Given the description of an element on the screen output the (x, y) to click on. 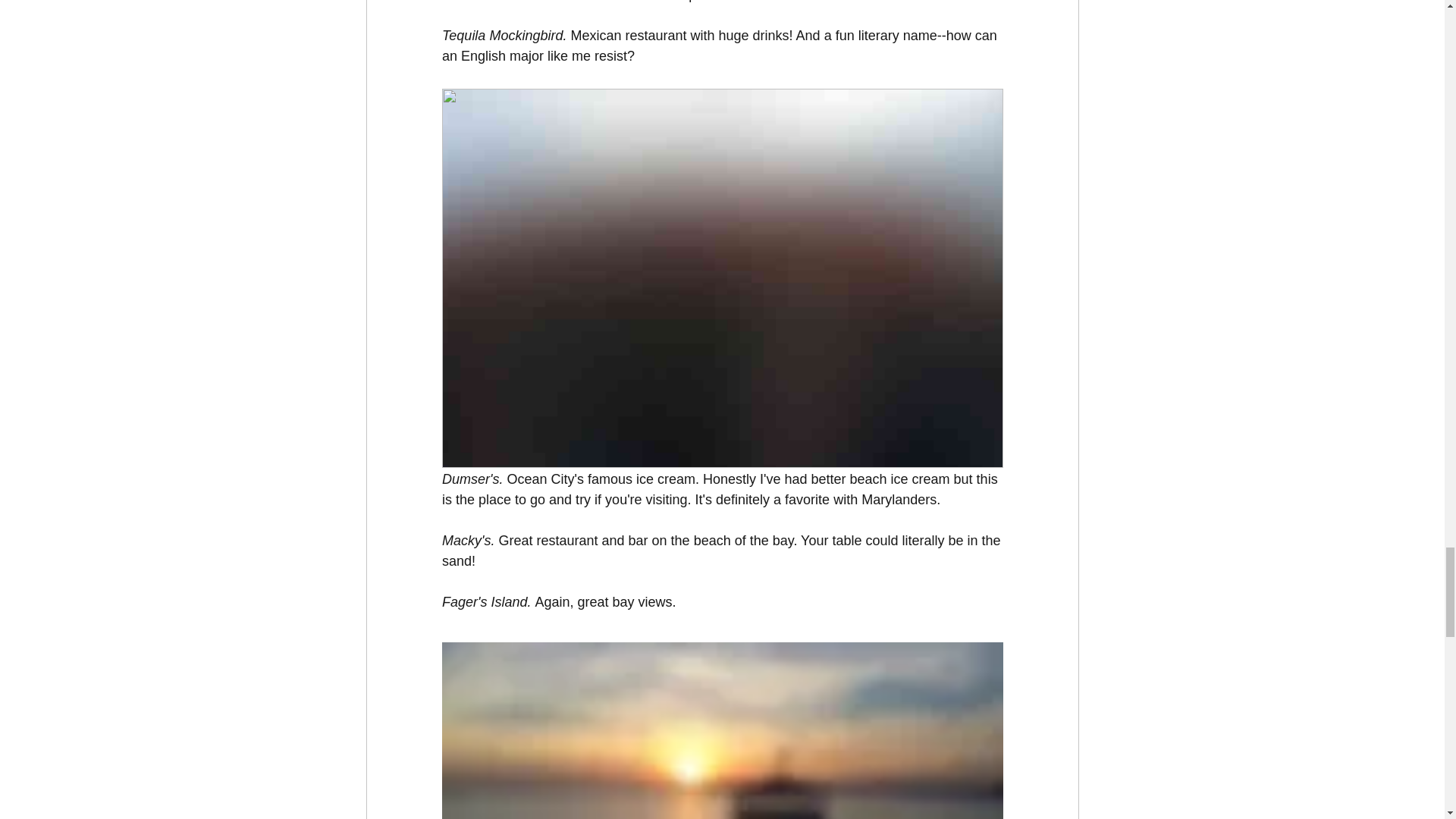
Grotto Pizza (478, 1)
Macky's (465, 540)
Tequila Mockingbird (501, 35)
Dumser's (469, 478)
Fager's Island (484, 601)
